Given the description of an element on the screen output the (x, y) to click on. 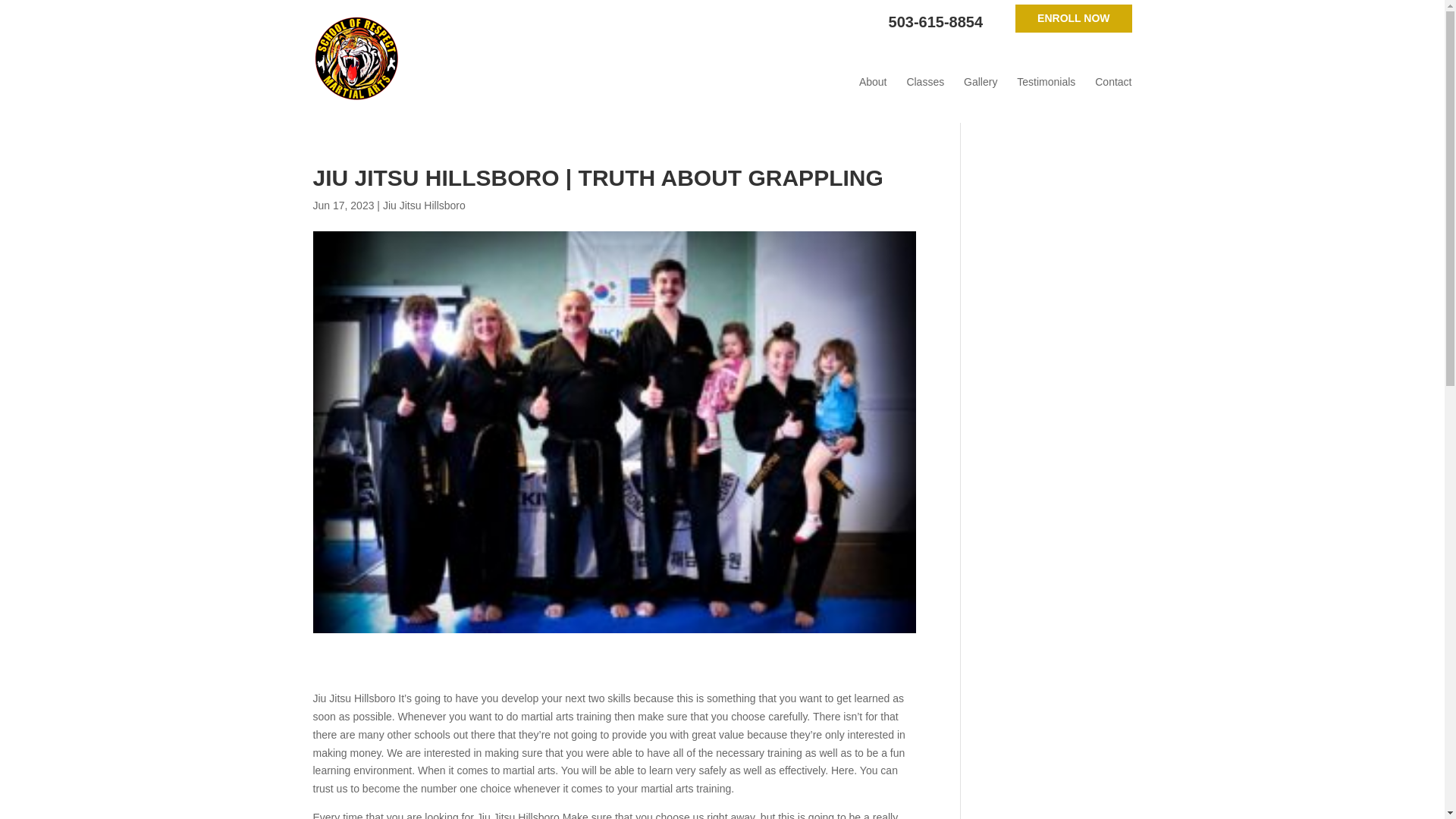
Jiu Jitsu Hillsboro (423, 205)
Contact (1112, 81)
Testimonials (1045, 81)
Classes (924, 81)
About (872, 81)
ENROLL NOW (1072, 18)
Gallery (980, 81)
503-615-8854 (936, 22)
